Given the description of an element on the screen output the (x, y) to click on. 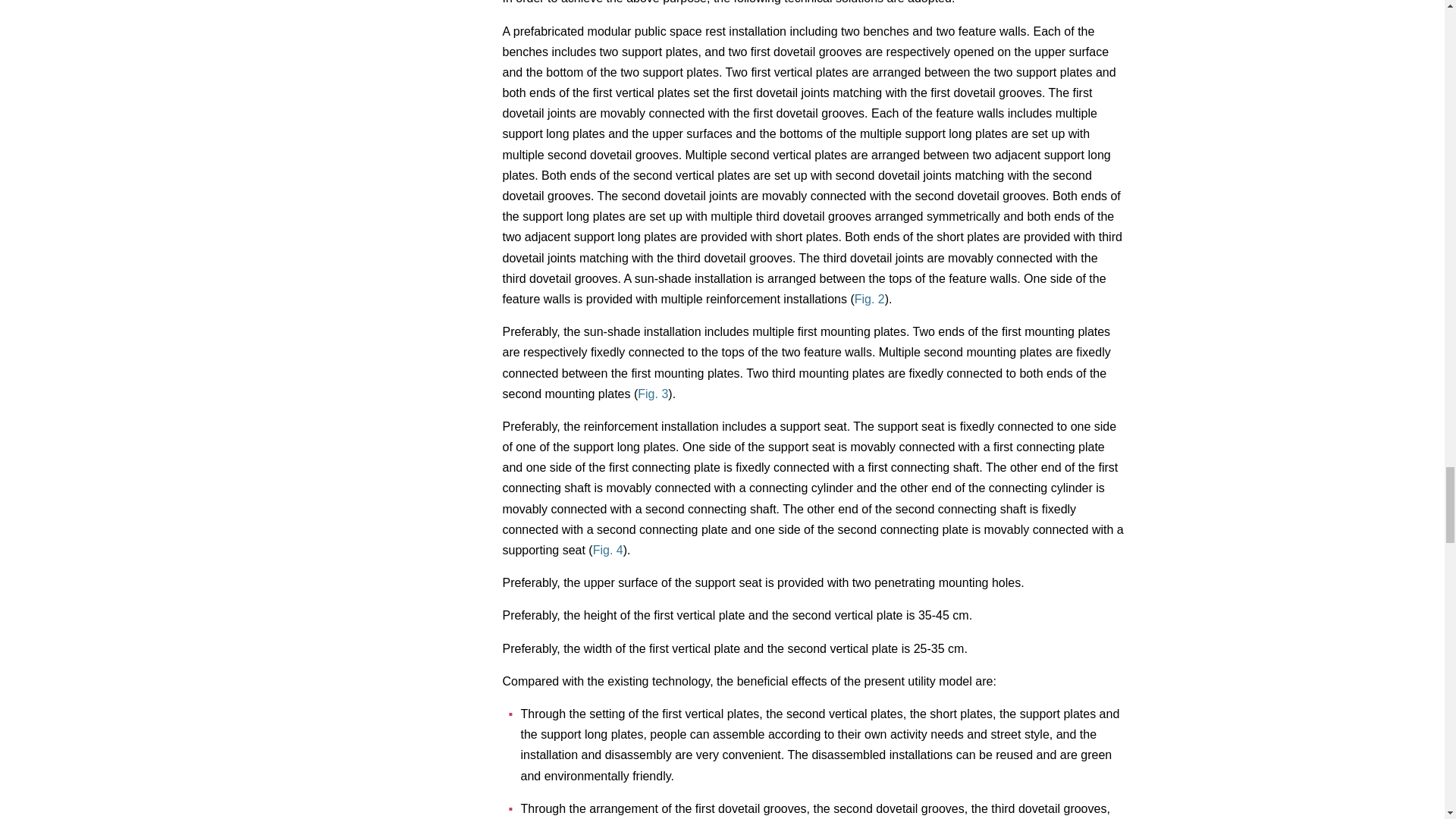
Fig. 3 (652, 393)
Fig. 4 (607, 549)
Fig. 2 (869, 298)
